Given the description of an element on the screen output the (x, y) to click on. 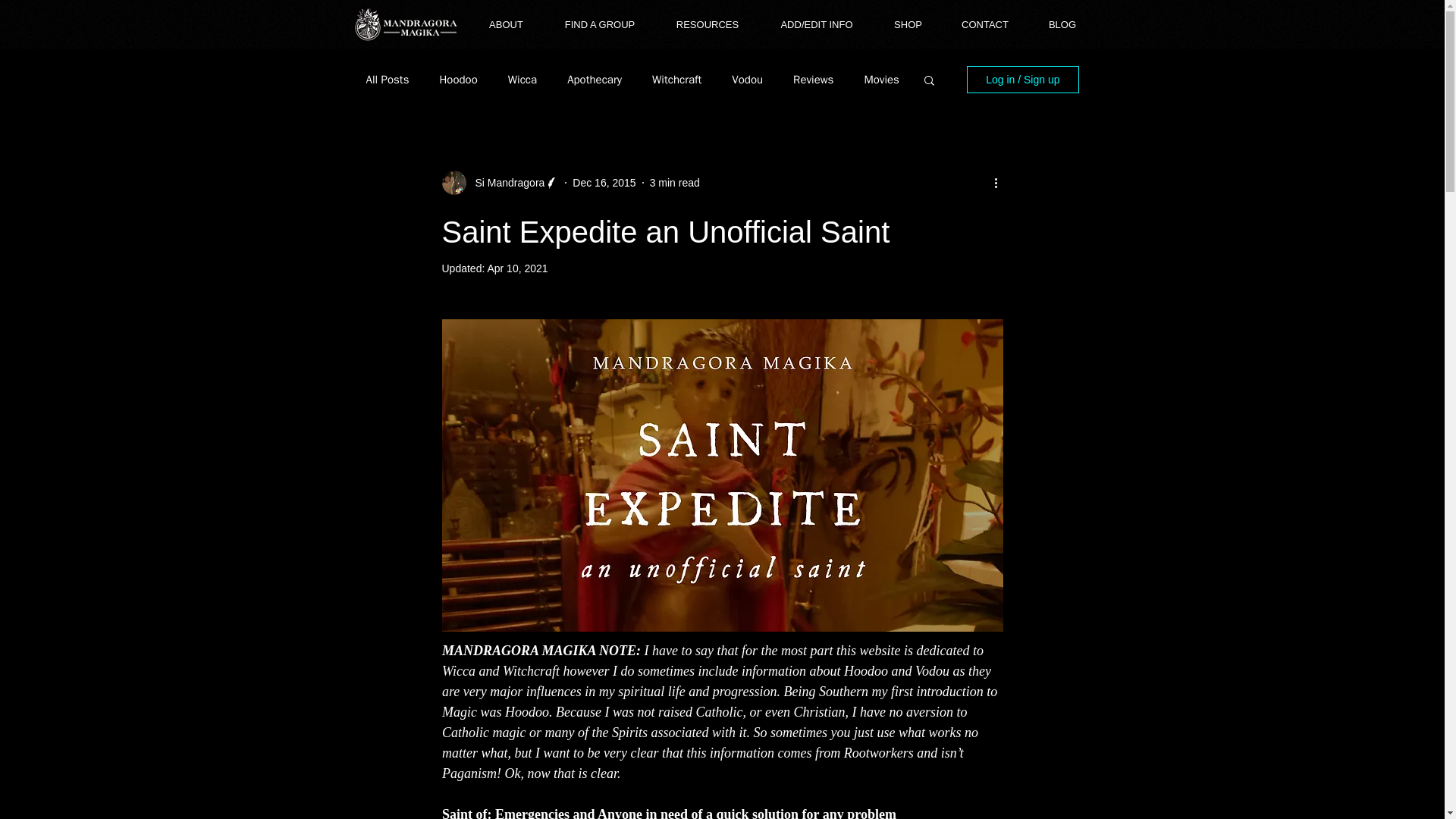
Si Mandragora (504, 182)
Movies (880, 79)
Dec 16, 2015 (603, 182)
Apr 10, 2021 (516, 268)
Hoodoo (458, 79)
Witchcraft (676, 79)
All Posts (387, 79)
Apothecary (594, 79)
SHOP (908, 24)
3 min read (674, 182)
